Given the description of an element on the screen output the (x, y) to click on. 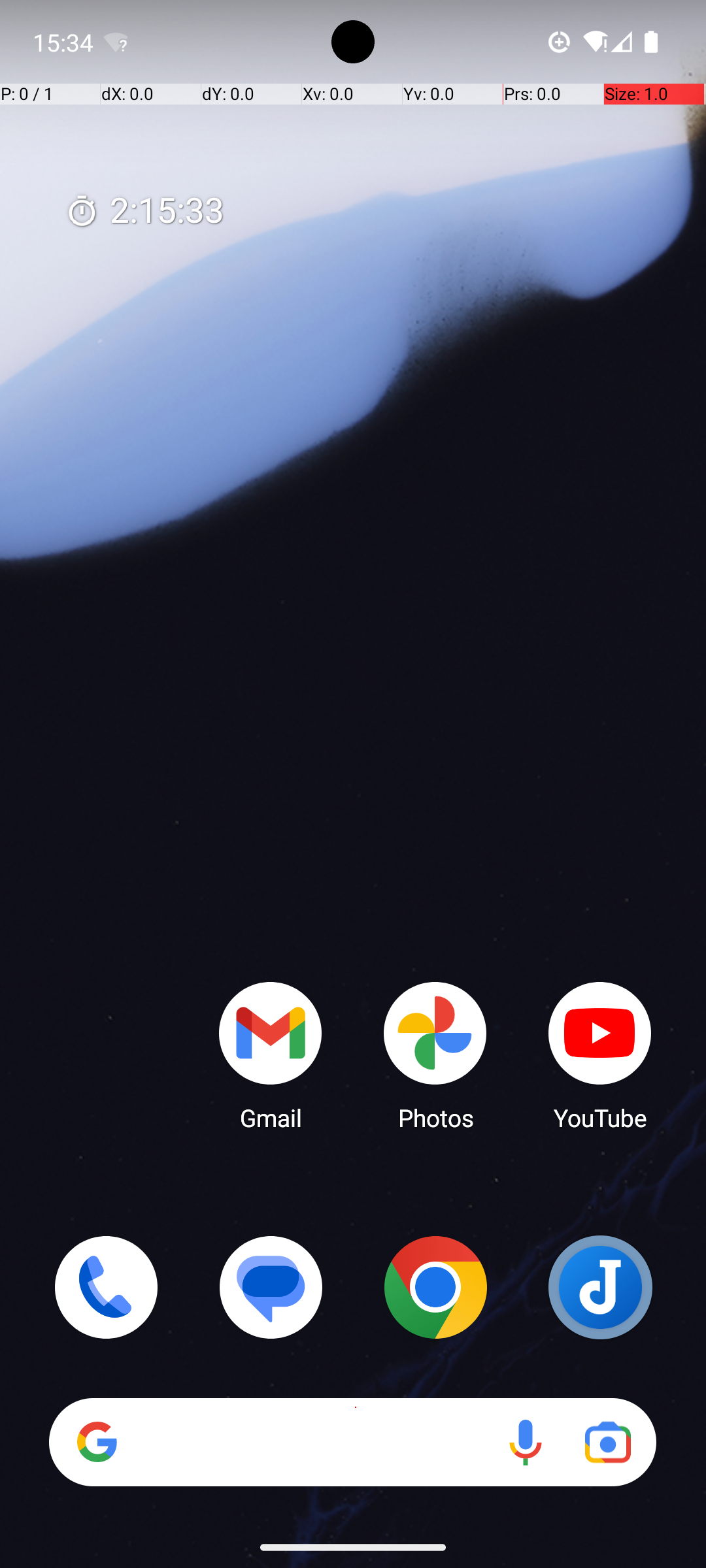
2:15:33 Element type: android.widget.TextView (144, 210)
